Given the description of an element on the screen output the (x, y) to click on. 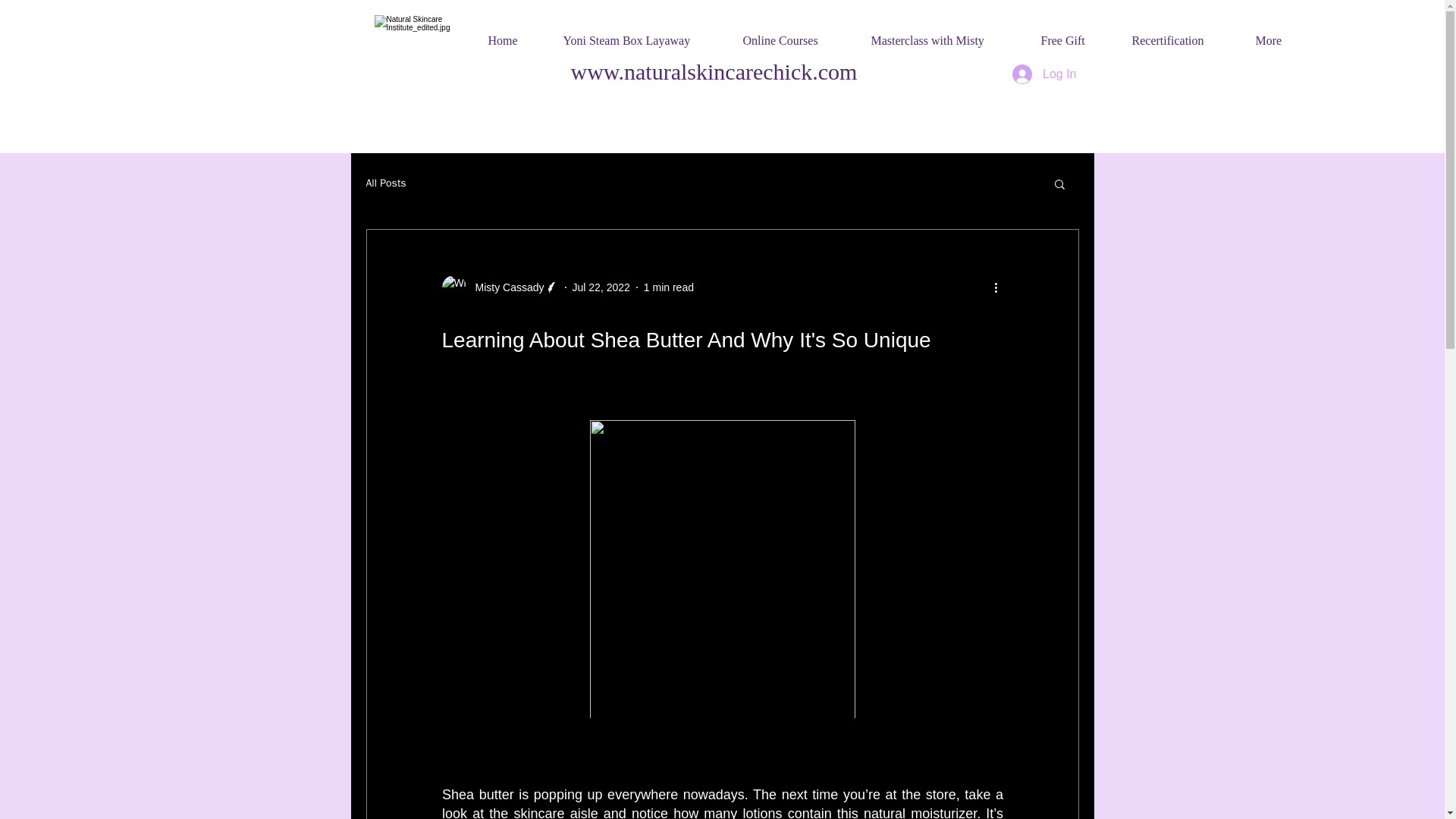
Natural Skincare Instutite.png (419, 60)
1 min read (668, 286)
Recertification (1179, 34)
Misty Cassady (499, 287)
Online Courses (793, 34)
Log In (1043, 73)
Yoni Steam Box Layaway (638, 34)
Free Gift (1072, 34)
www.naturalskincarechick.com (713, 71)
Jul 22, 2022 (601, 286)
